Given the description of an element on the screen output the (x, y) to click on. 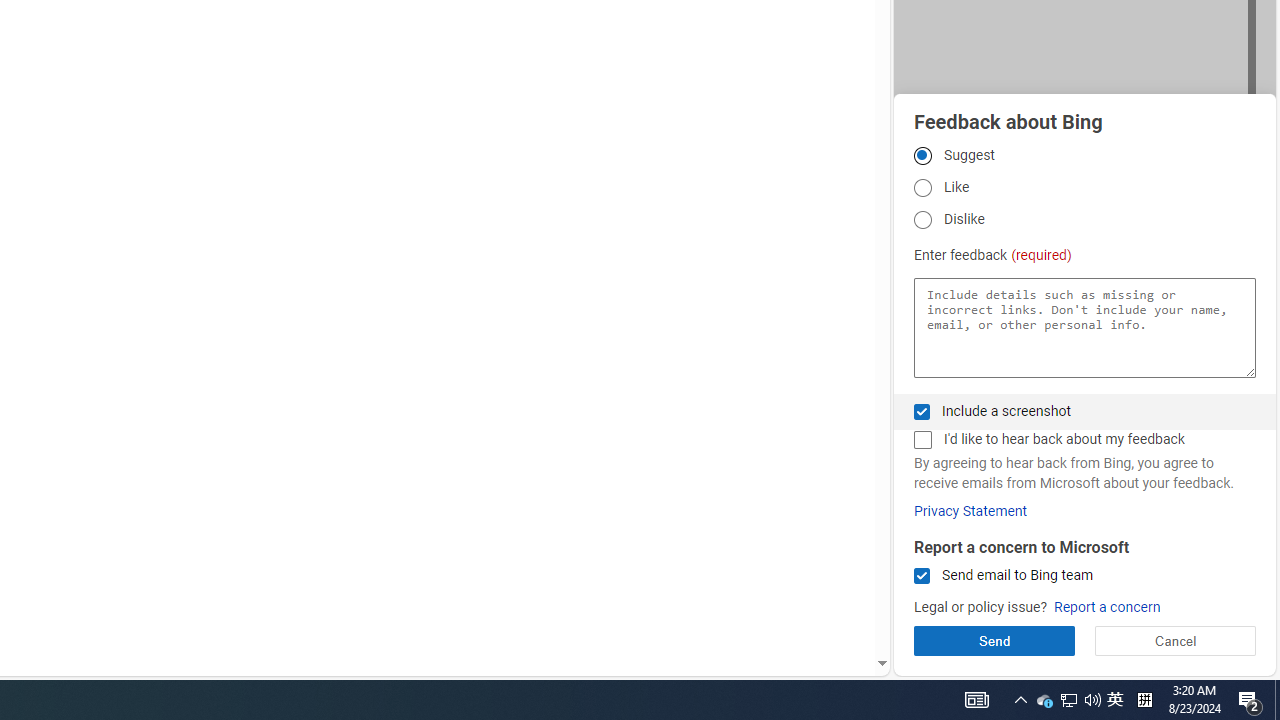
Report a concern (1106, 607)
Send email to Bing team (921, 575)
Suggest (922, 155)
Privacy Statement (970, 511)
Cancel (1174, 640)
Include a screenshot (921, 411)
Send (994, 640)
I'd like to hear back about my feedback (922, 440)
